Given the description of an element on the screen output the (x, y) to click on. 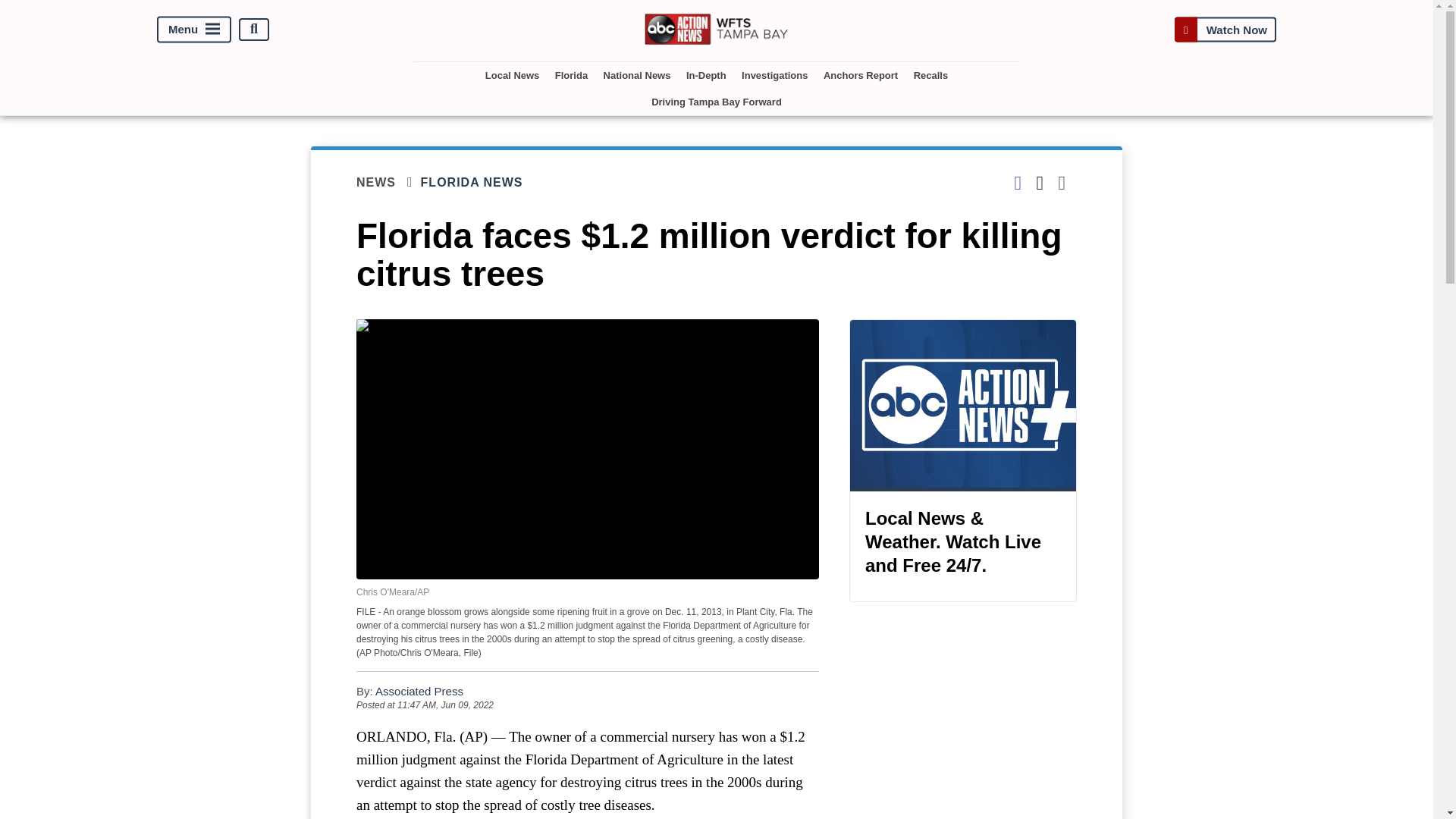
Watch Now (1224, 29)
Menu (194, 28)
